Given the description of an element on the screen output the (x, y) to click on. 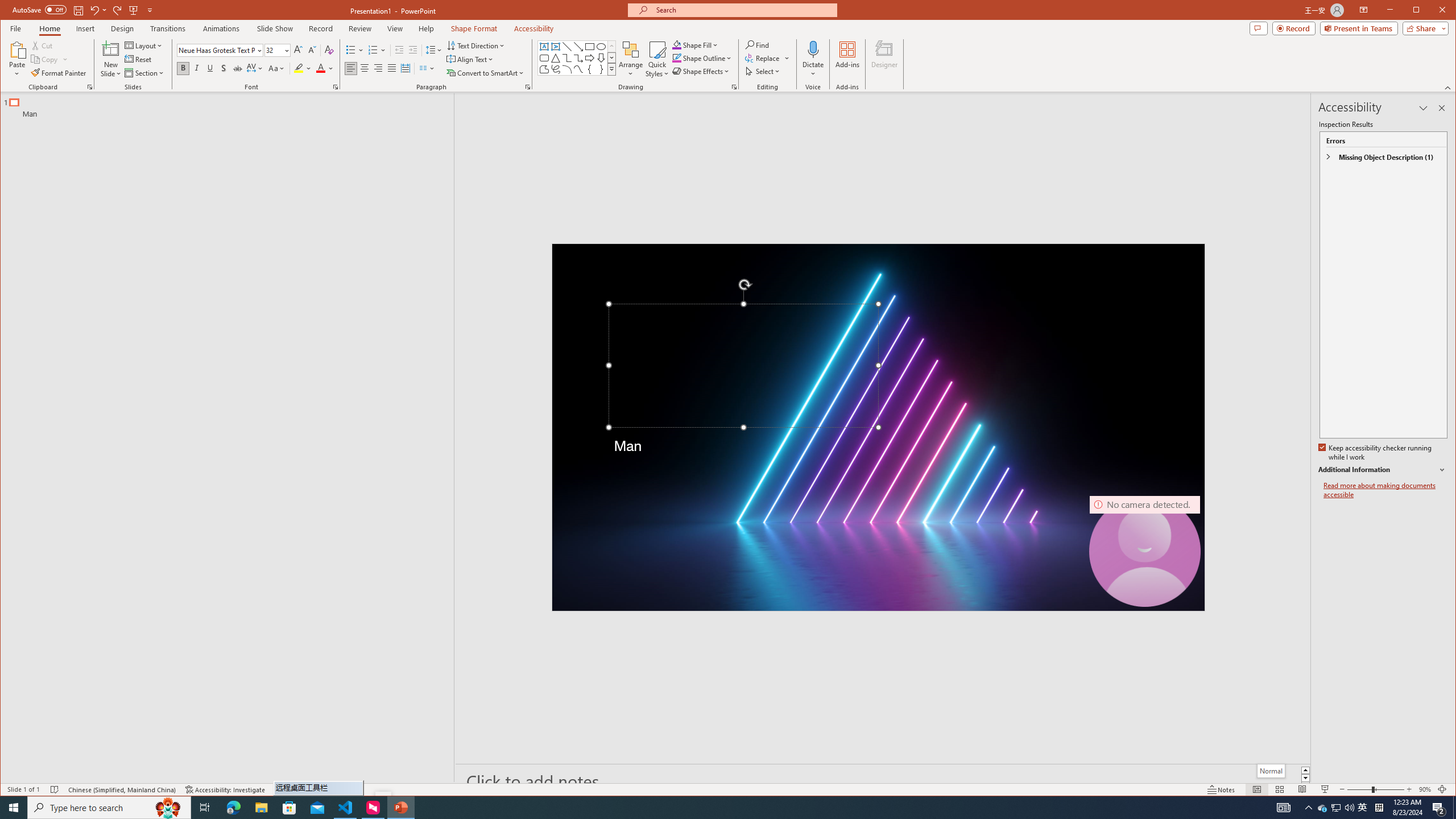
Office Clipboard... (89, 86)
Connector: Elbow (567, 57)
Shape Outline (702, 57)
Shape Format (473, 28)
Font Color Red (320, 68)
Center (364, 68)
